Given the description of an element on the screen output the (x, y) to click on. 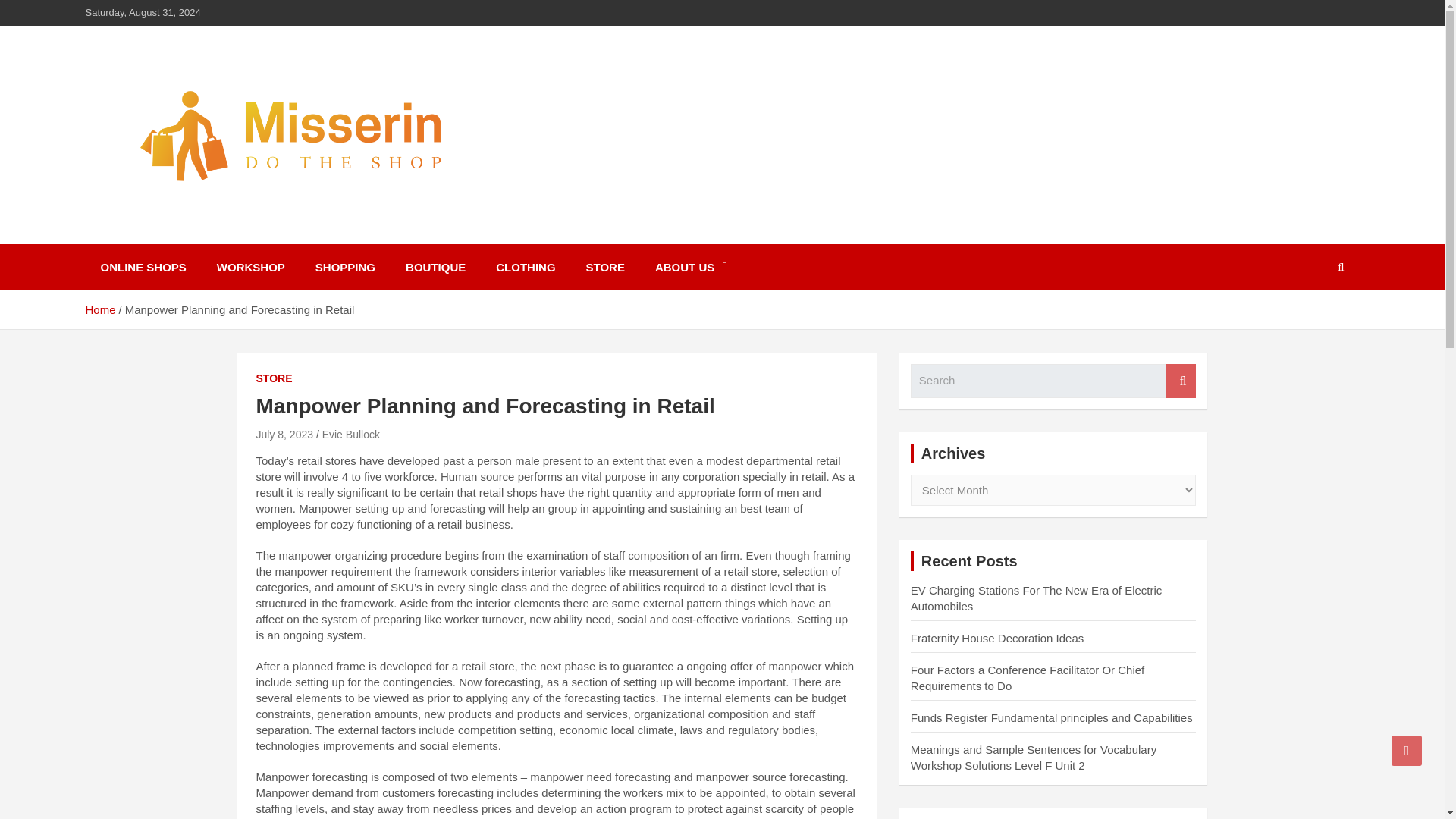
STORE (274, 378)
Misserin (146, 233)
CLOTHING (525, 267)
Funds Register Fundamental principles and Capabilities (1051, 717)
Go to Top (1406, 750)
Fraternity House Decoration Ideas (997, 637)
Home (99, 309)
ABOUT US (691, 267)
